Given the description of an element on the screen output the (x, y) to click on. 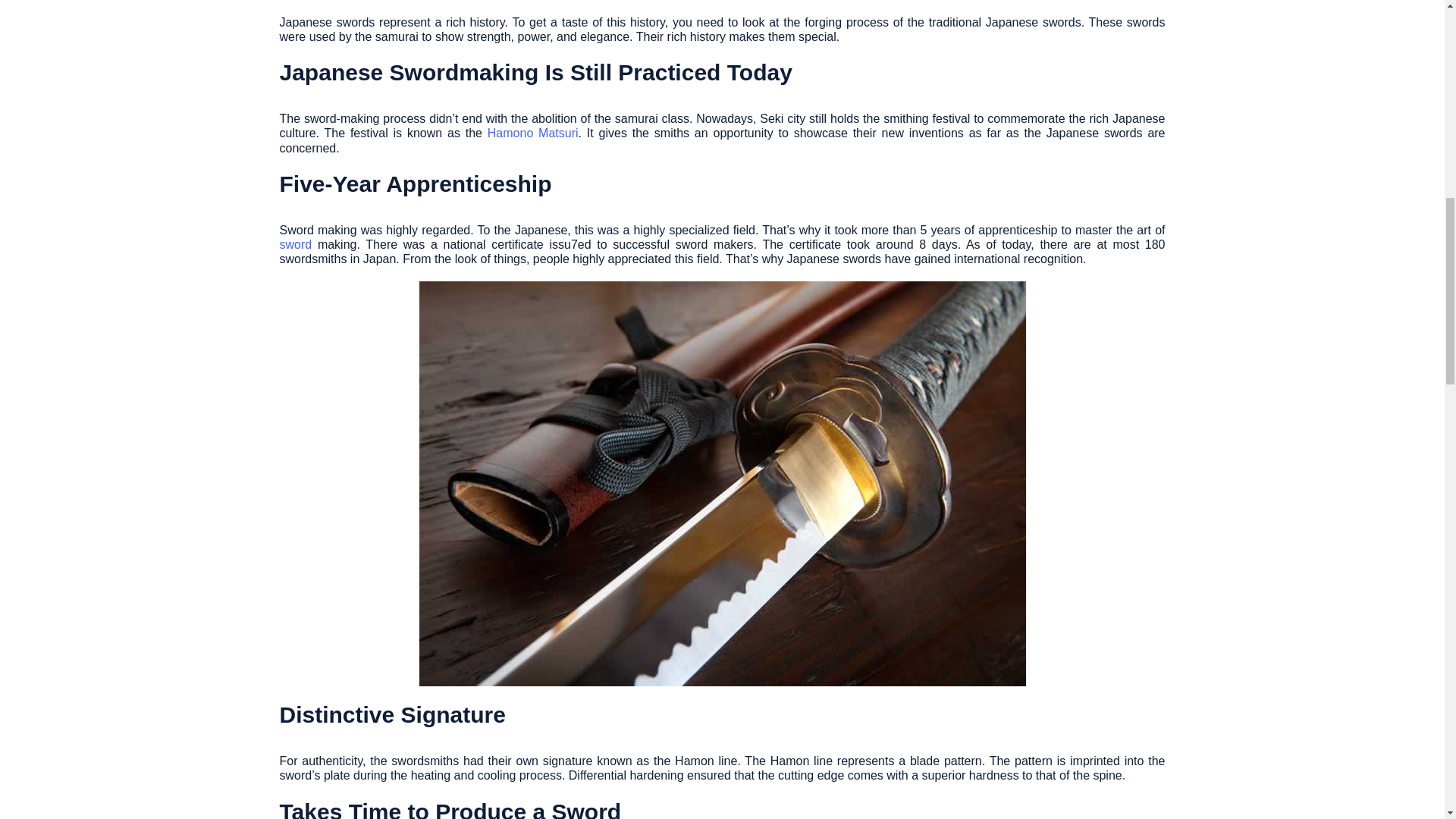
Hamono Matsuri (532, 132)
sword (295, 244)
